Given the description of an element on the screen output the (x, y) to click on. 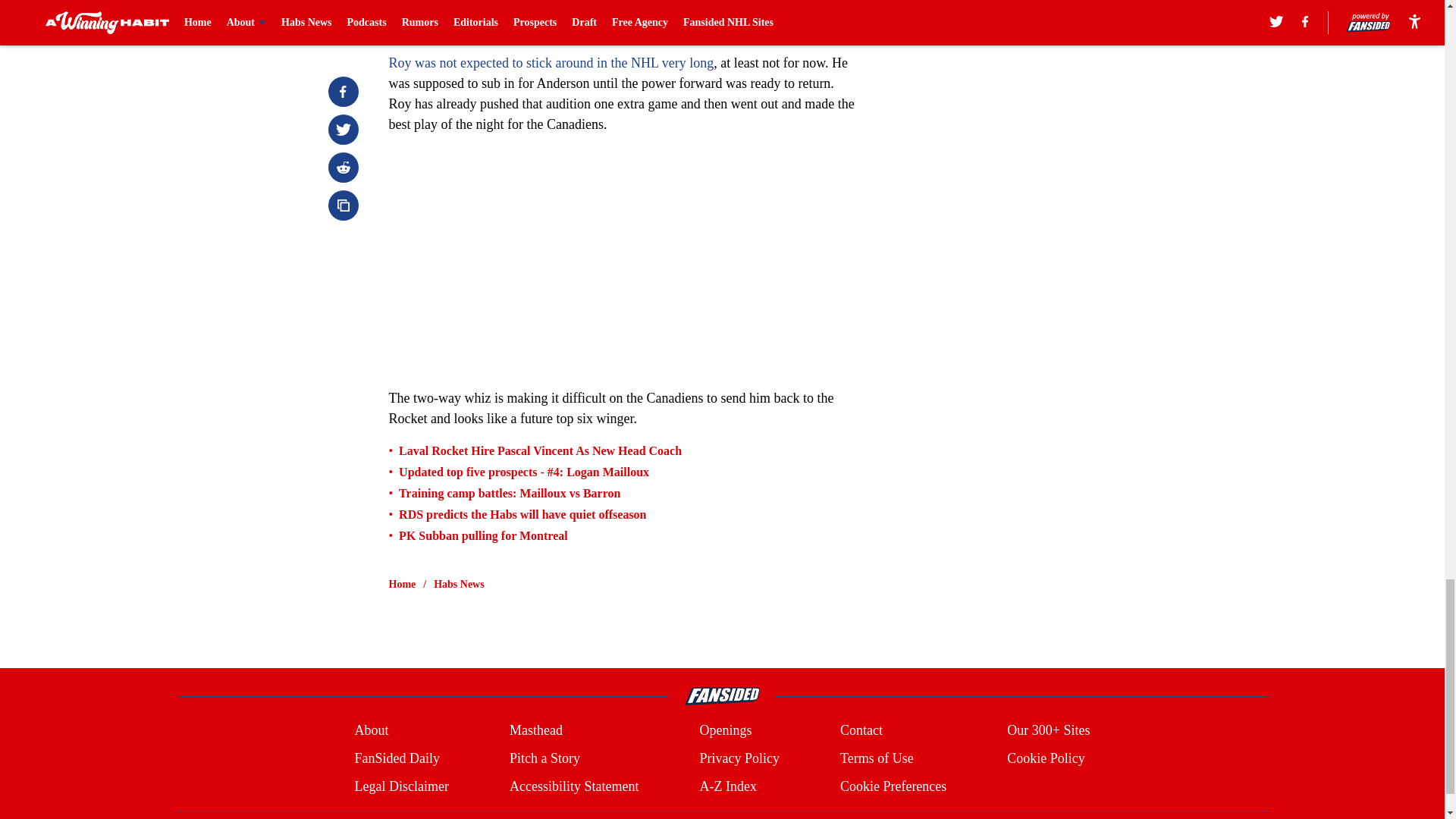
PK Subban pulling for Montreal (482, 535)
About (370, 730)
Home (401, 584)
RDS predicts the Habs will have quiet offseason (522, 514)
Habs News (458, 584)
Roy was not expected to stick around in the NHL very long (550, 62)
Training camp battles: Mailloux vs Barron (509, 493)
Laval Rocket Hire Pascal Vincent As New Head Coach (539, 450)
